Given the description of an element on the screen output the (x, y) to click on. 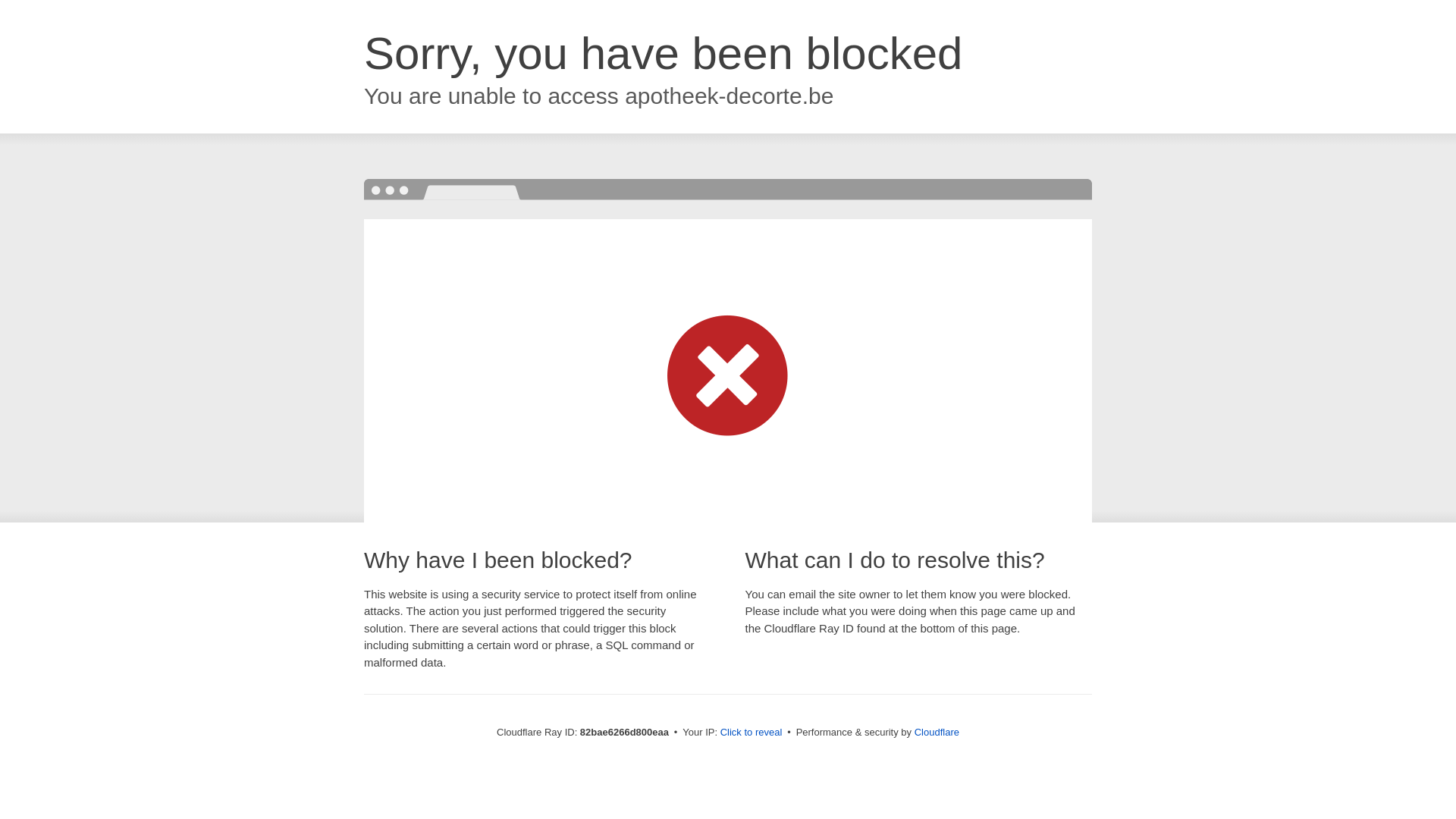
Cloudflare Element type: text (936, 731)
Click to reveal Element type: text (751, 732)
